Given the description of an element on the screen output the (x, y) to click on. 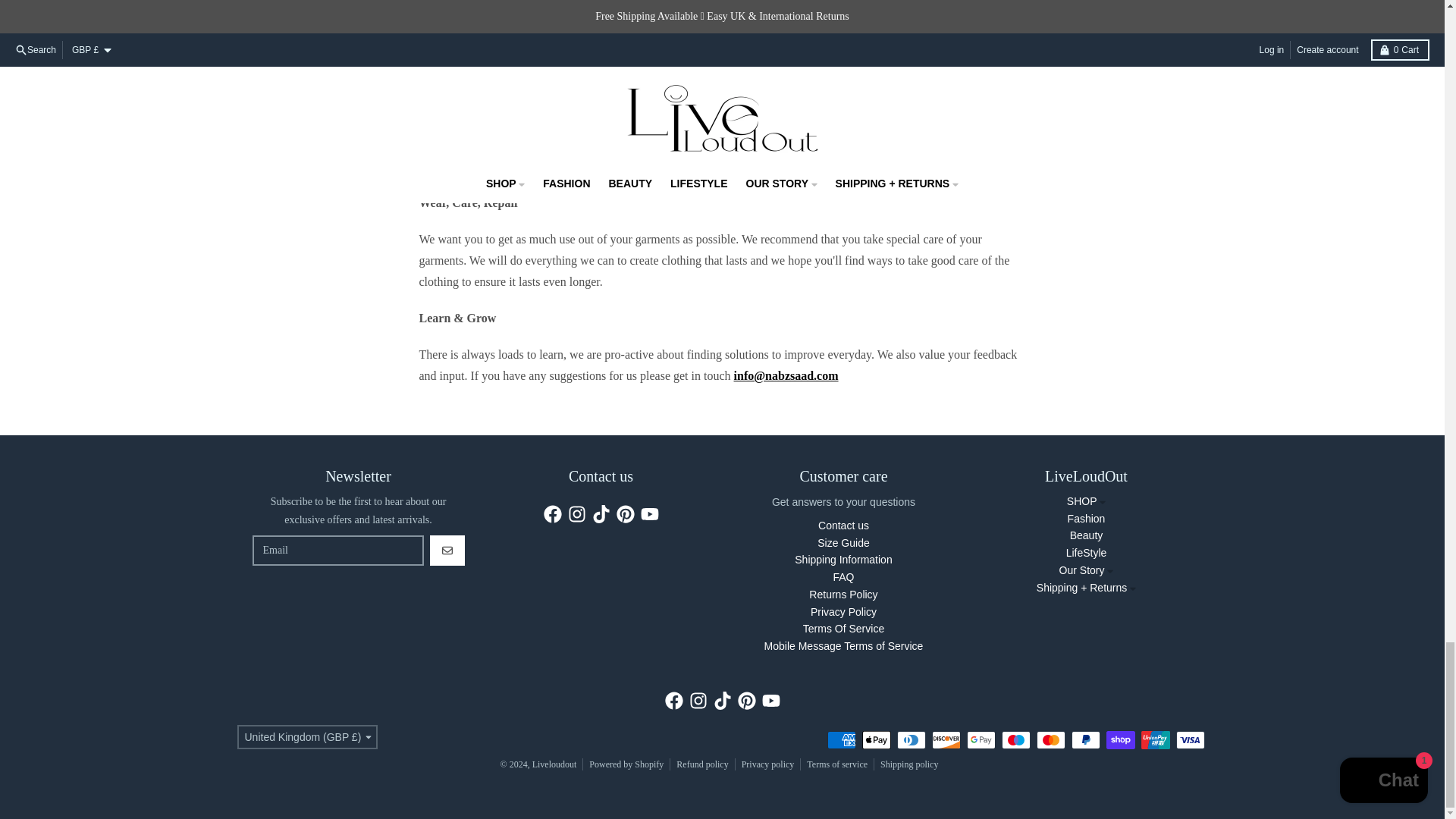
TikTok - Liveloudout (600, 514)
Facebook - Liveloudout (672, 700)
YouTube - Liveloudout (649, 514)
TikTok - Liveloudout (721, 700)
Instagram - Liveloudout (697, 700)
YouTube - Liveloudout (769, 700)
Instagram - Liveloudout (576, 514)
Pinterest - Liveloudout (745, 700)
Facebook - Liveloudout (551, 514)
Pinterest - Liveloudout (624, 514)
